Given the description of an element on the screen output the (x, y) to click on. 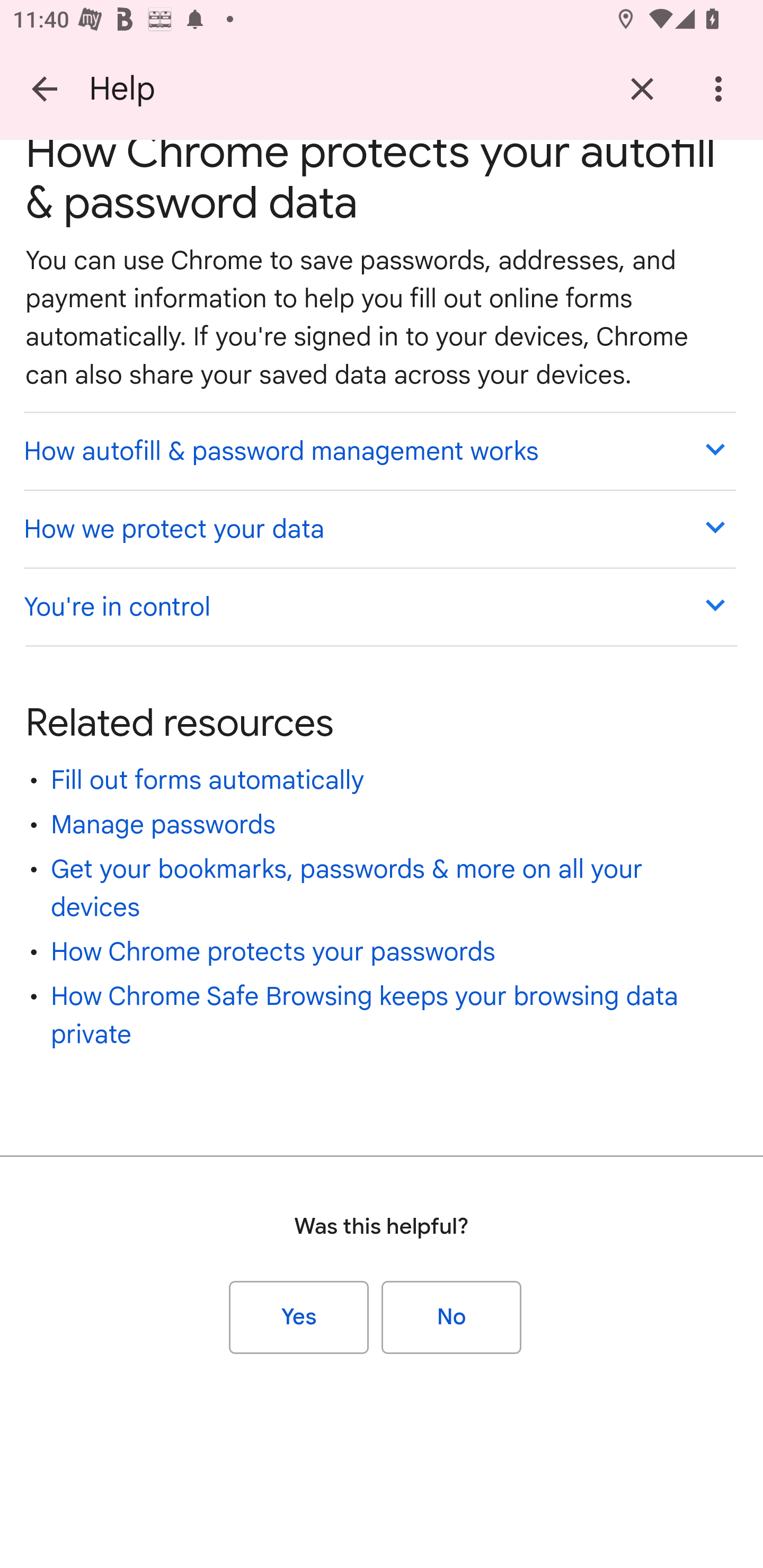
Navigate up (44, 88)
Return to Chrome (642, 88)
More options (721, 88)
How autofill & password management works (379, 449)
How we protect your data (379, 528)
You're in control (379, 605)
Fill out forms automatically (208, 780)
Manage passwords (163, 824)
How Chrome protects your passwords (273, 951)
Yes (Was this helpful?) (298, 1317)
No (Was this helpful?) (451, 1317)
